Given the description of an element on the screen output the (x, y) to click on. 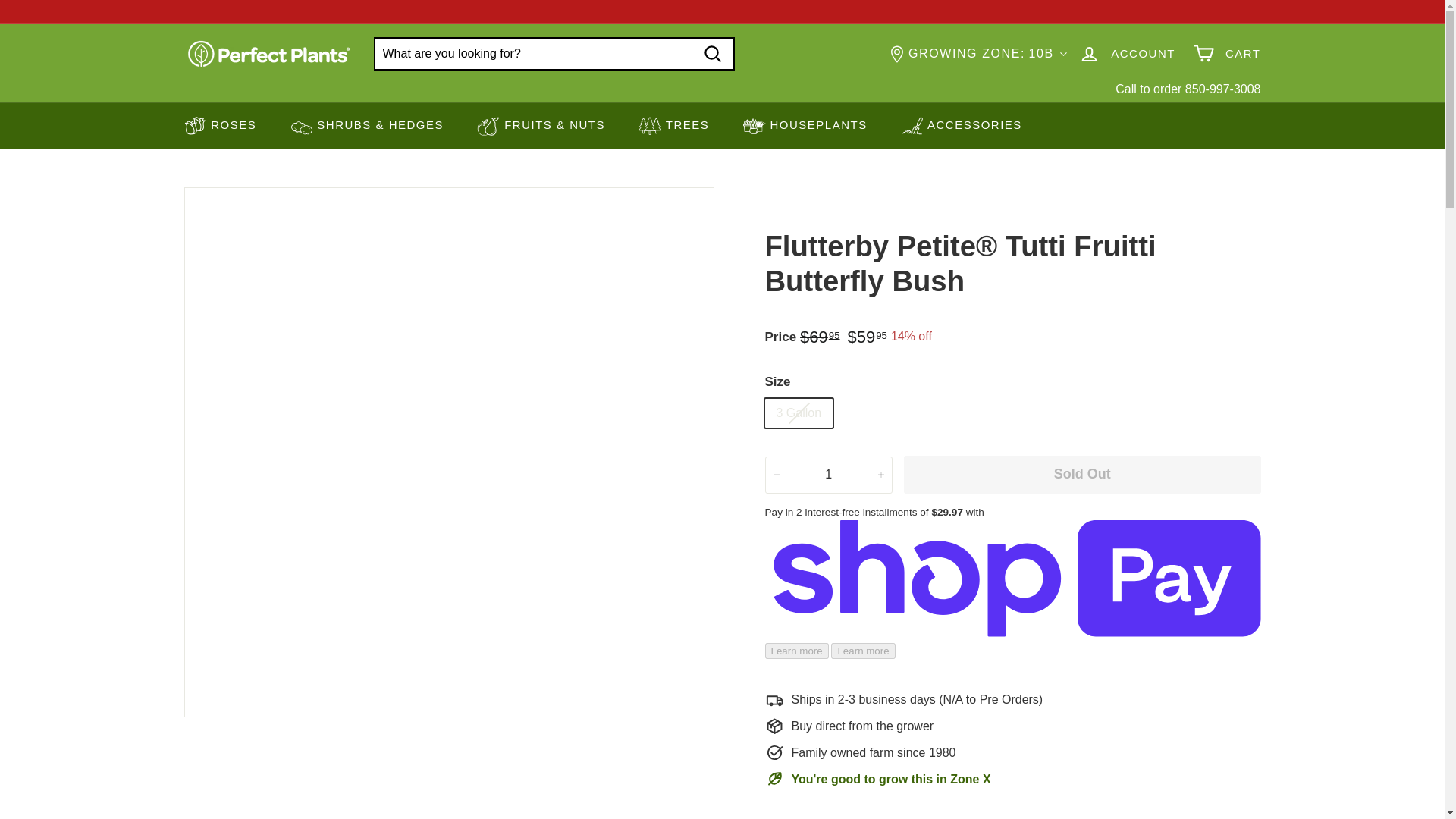
ROSES (219, 125)
GROWING ZONE: 10B (979, 53)
ACCOUNT (1127, 53)
1 (827, 474)
Call to order 850-997-3008 (1187, 88)
